Given the description of an element on the screen output the (x, y) to click on. 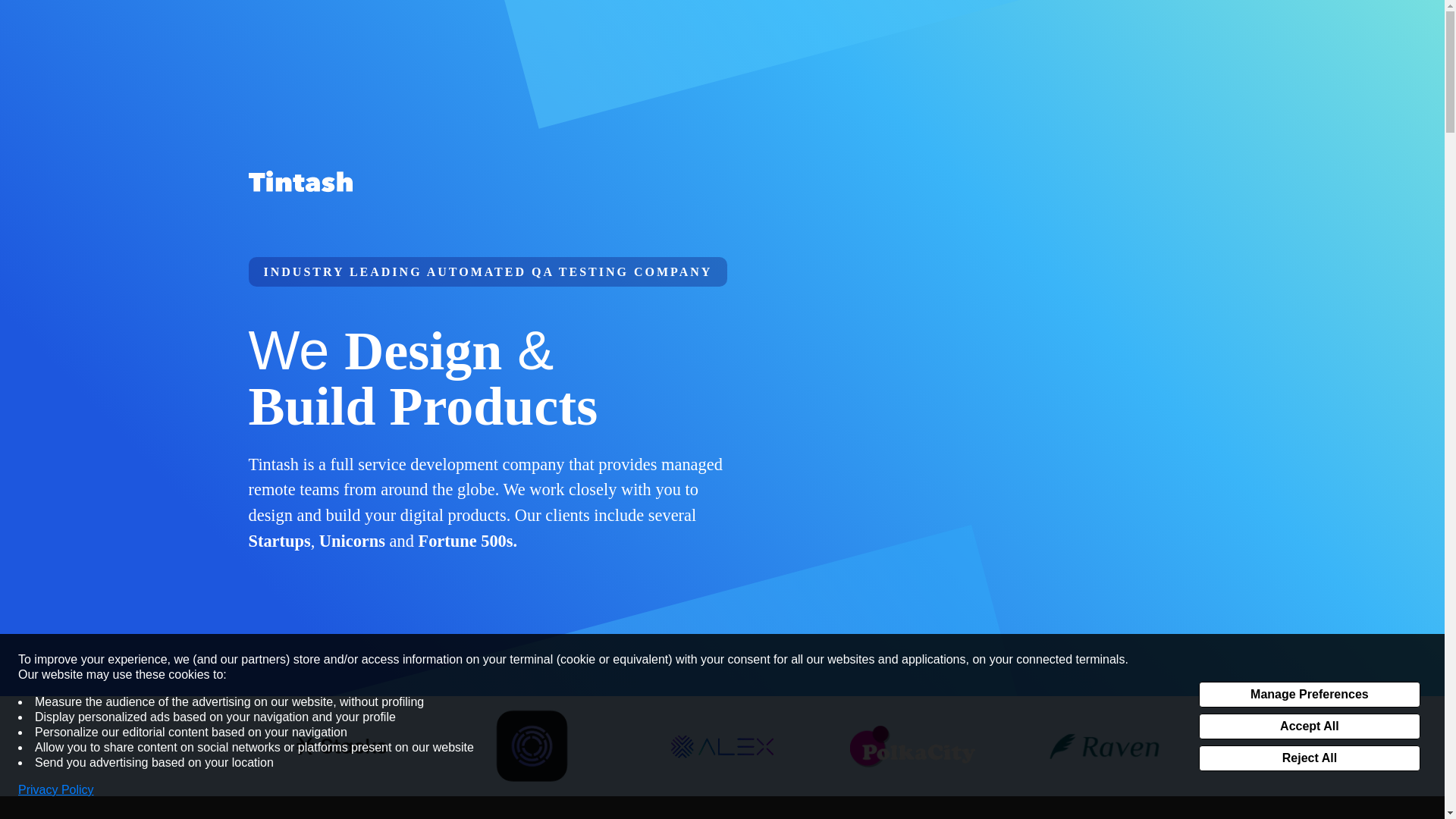
Accept All (1309, 726)
Privacy Policy (55, 789)
Reject All (1309, 758)
Manage Preferences (1309, 694)
